Given the description of an element on the screen output the (x, y) to click on. 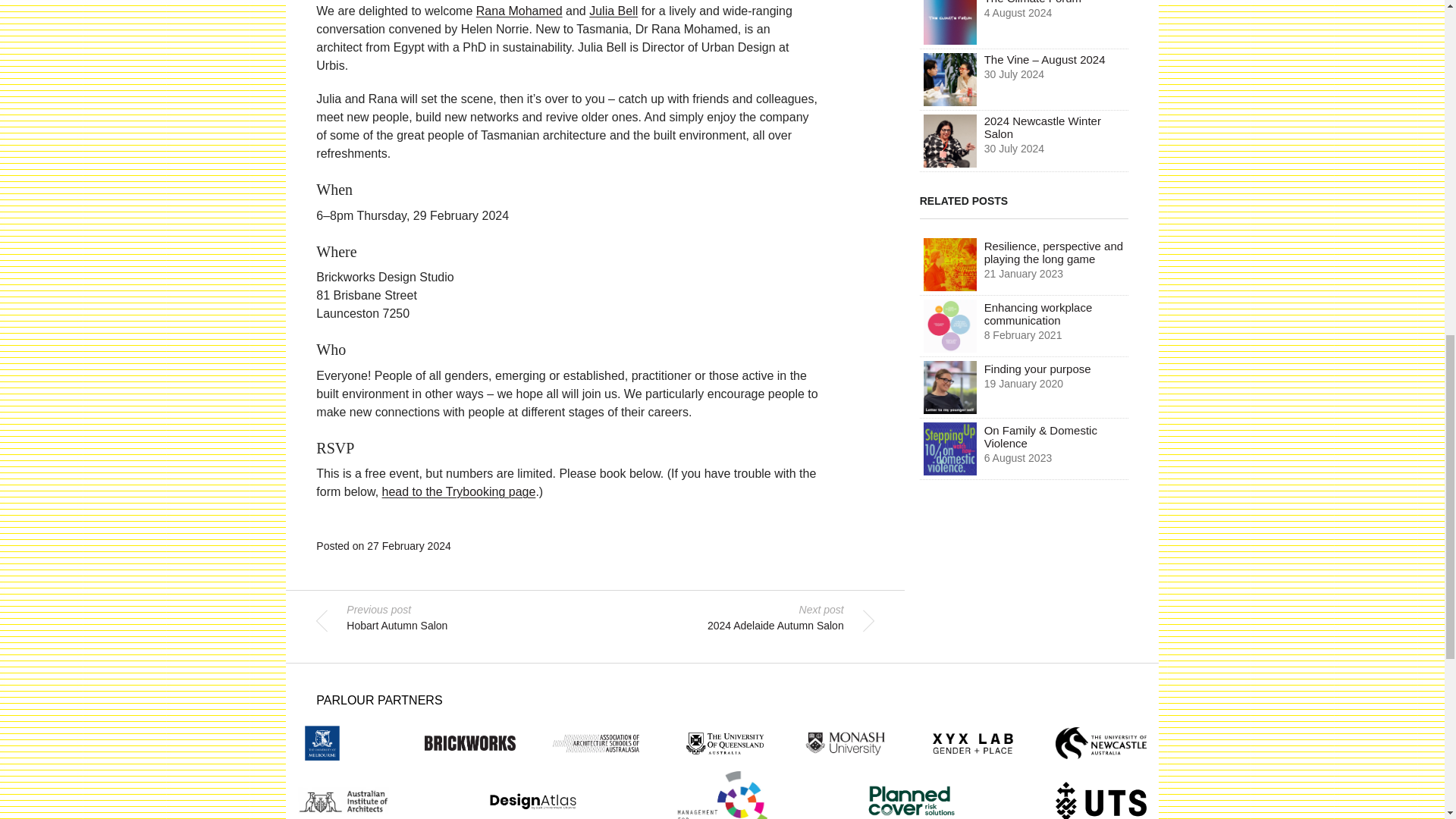
Resilience, perspective and playing the long game (1024, 264)
Enhancing workplace communication (1024, 326)
Finding your purpose (1024, 387)
